Given the description of an element on the screen output the (x, y) to click on. 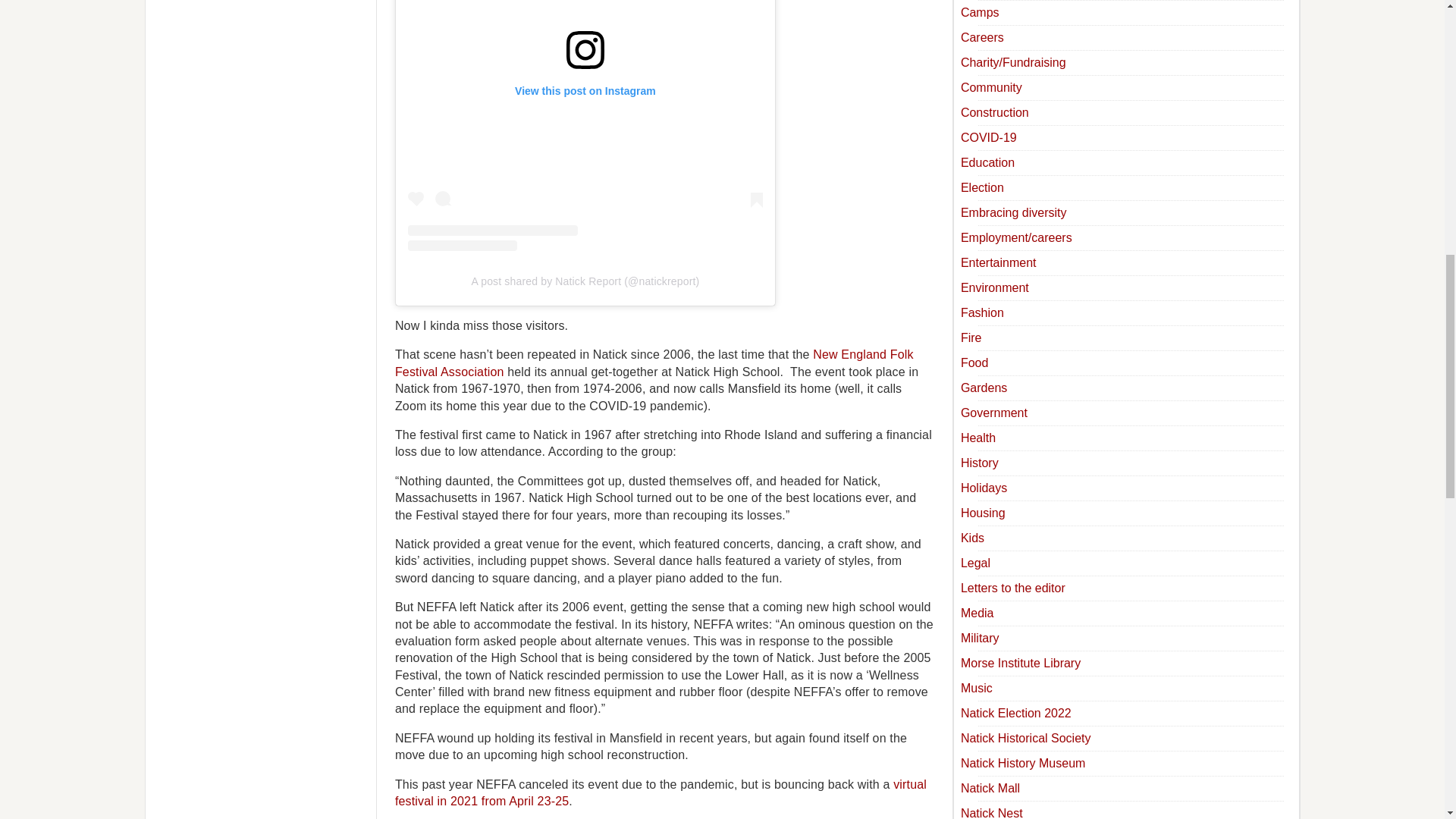
View this post on Instagram (584, 125)
New England Folk Festival Association (654, 362)
virtual festival in 2021 from April 23-25 (660, 792)
